Given the description of an element on the screen output the (x, y) to click on. 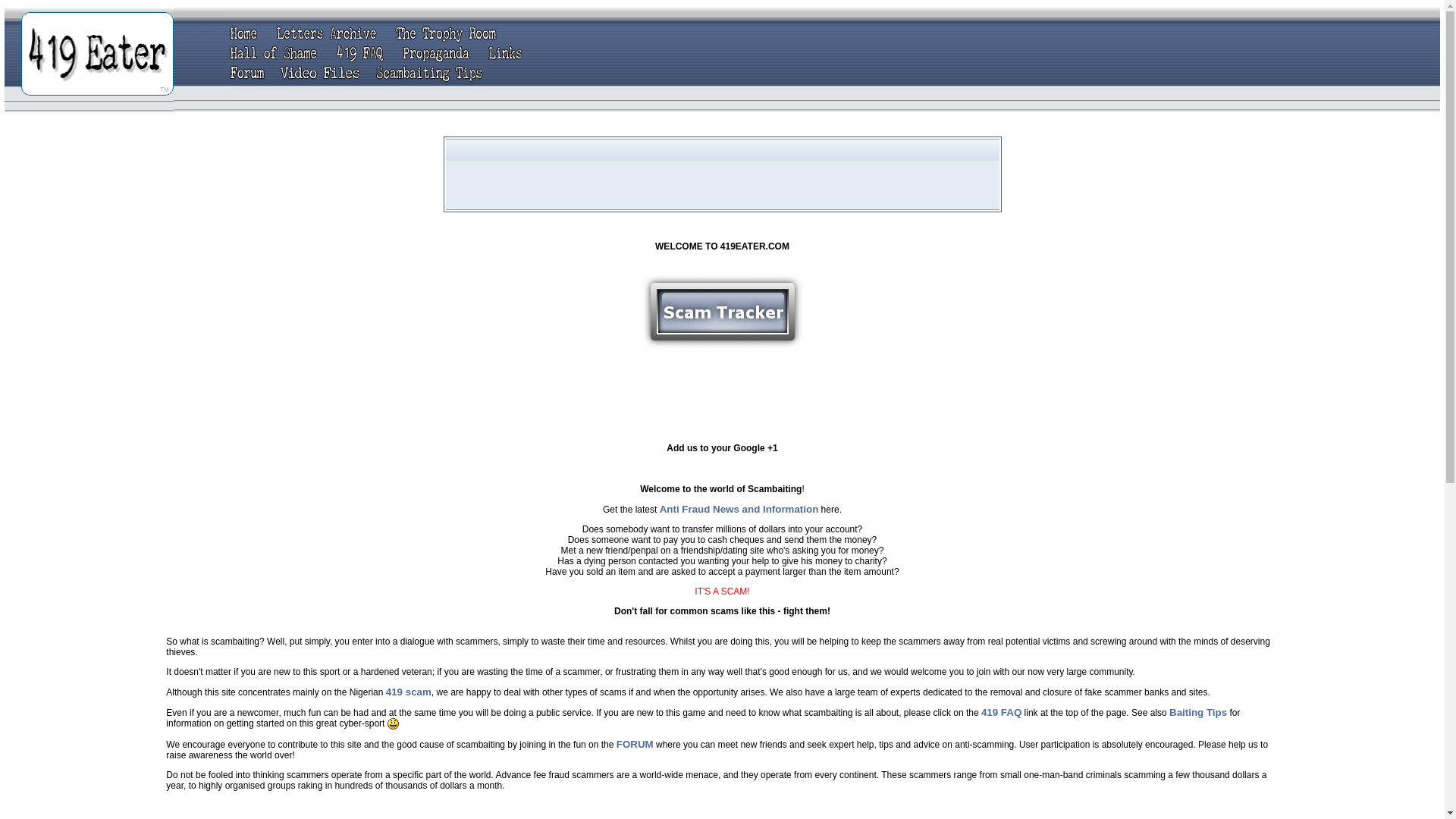
Anti Fraud News and Information Element type: text (739, 508)
419 FAQ Element type: text (1001, 712)
419 scam Element type: text (408, 691)
Baiting Tips Element type: text (1197, 712)
Advertisement Element type: hover (721, 174)
FORUM Element type: text (634, 743)
